Given the description of an element on the screen output the (x, y) to click on. 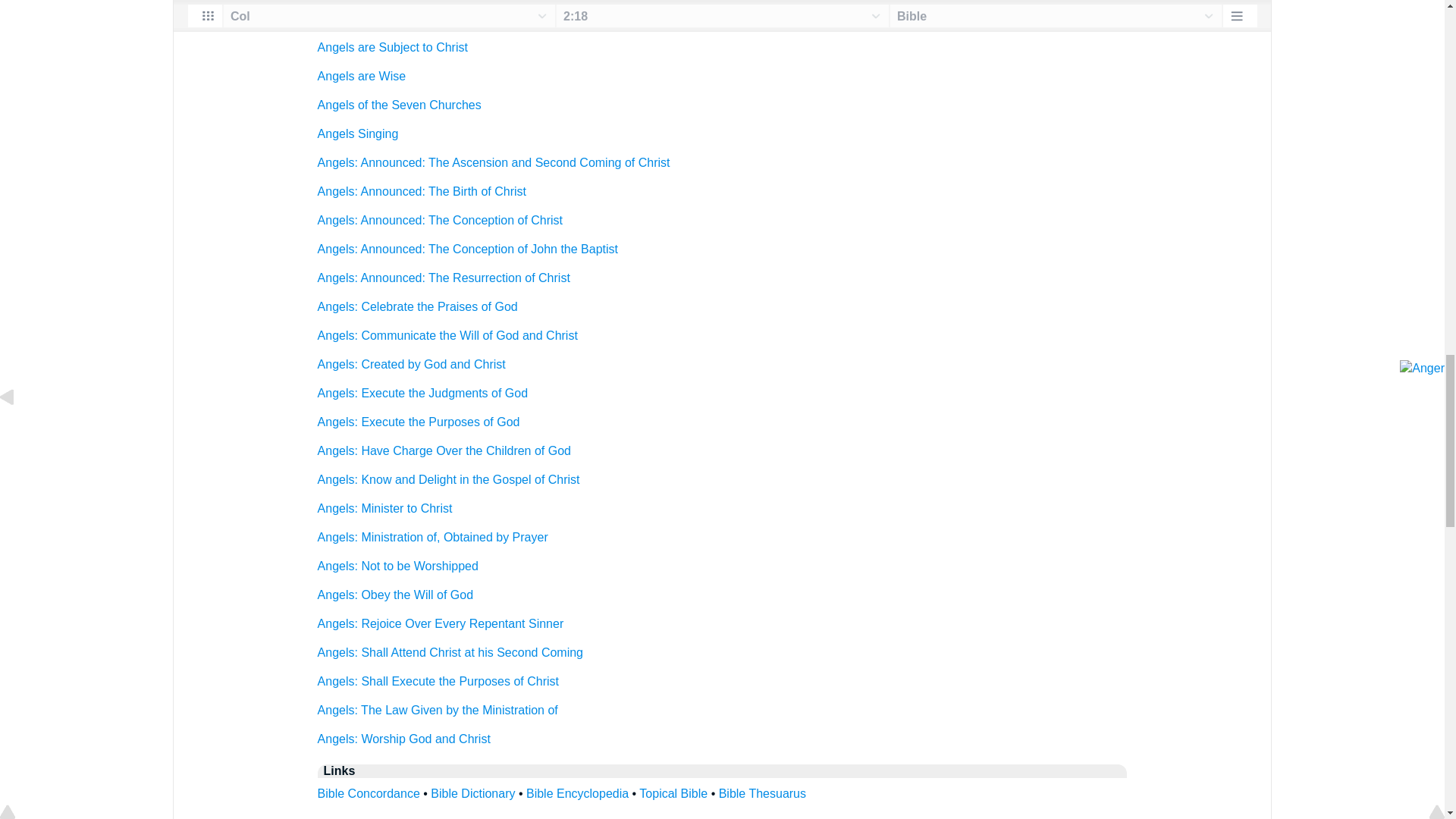
Angels Singing (357, 133)
Angels are Wise (361, 75)
Angels: Announced: The Ascension and Second Coming of Christ (493, 162)
Angels are of Different Orders (398, 18)
Angels: Announced: The Conception of Christ (439, 219)
Angels: Announced: The Conception of John the Baptist (467, 248)
Angels: Announced: The Birth of Christ (421, 191)
Angels are Subject to Christ (392, 47)
Angels of the Seven Churches (399, 104)
